Given the description of an element on the screen output the (x, y) to click on. 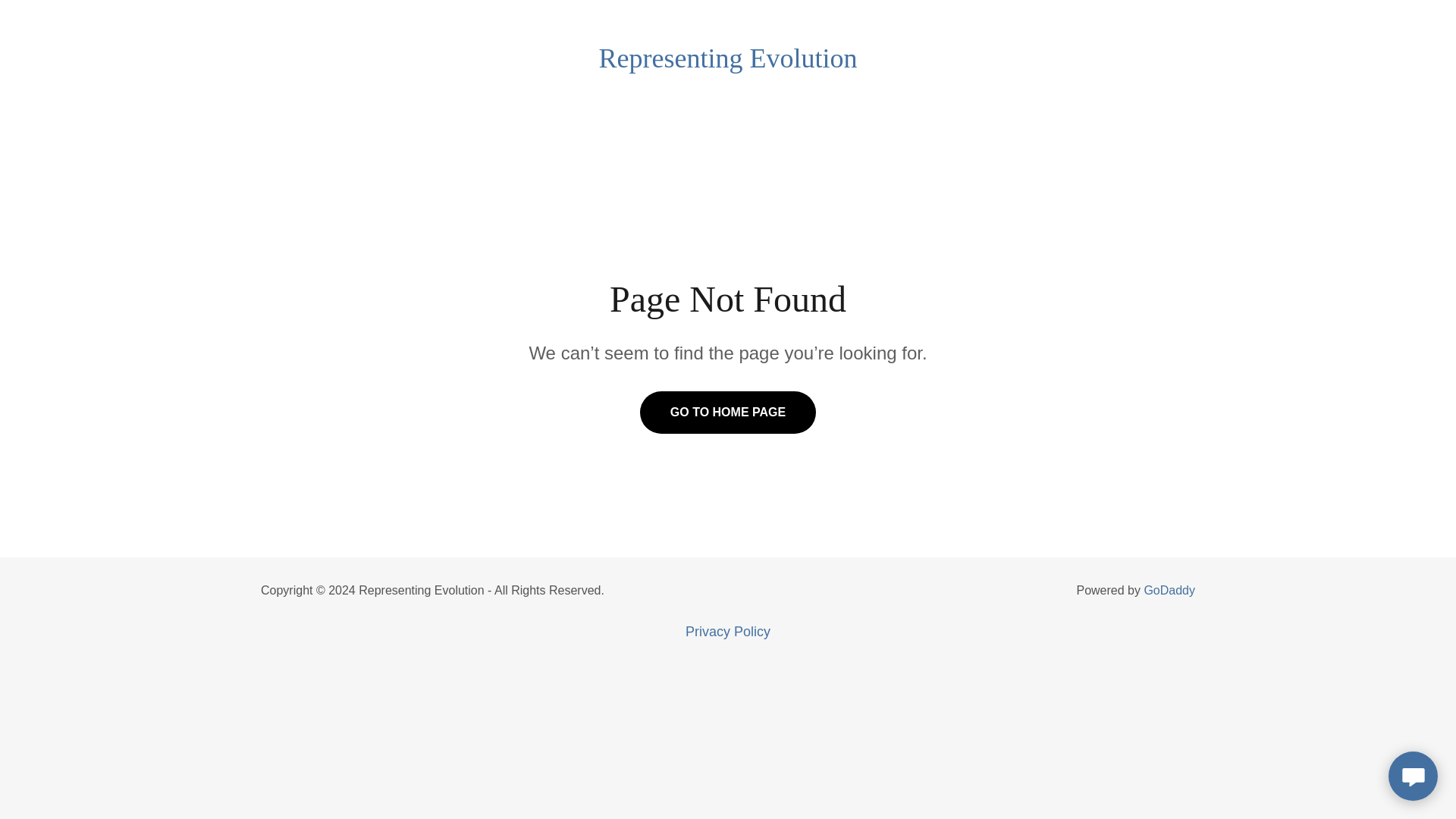
Privacy Policy (727, 632)
GO TO HOME PAGE (727, 412)
Representing Evolution (727, 62)
Representing Evolution (727, 62)
GoDaddy (1168, 590)
